Given the description of an element on the screen output the (x, y) to click on. 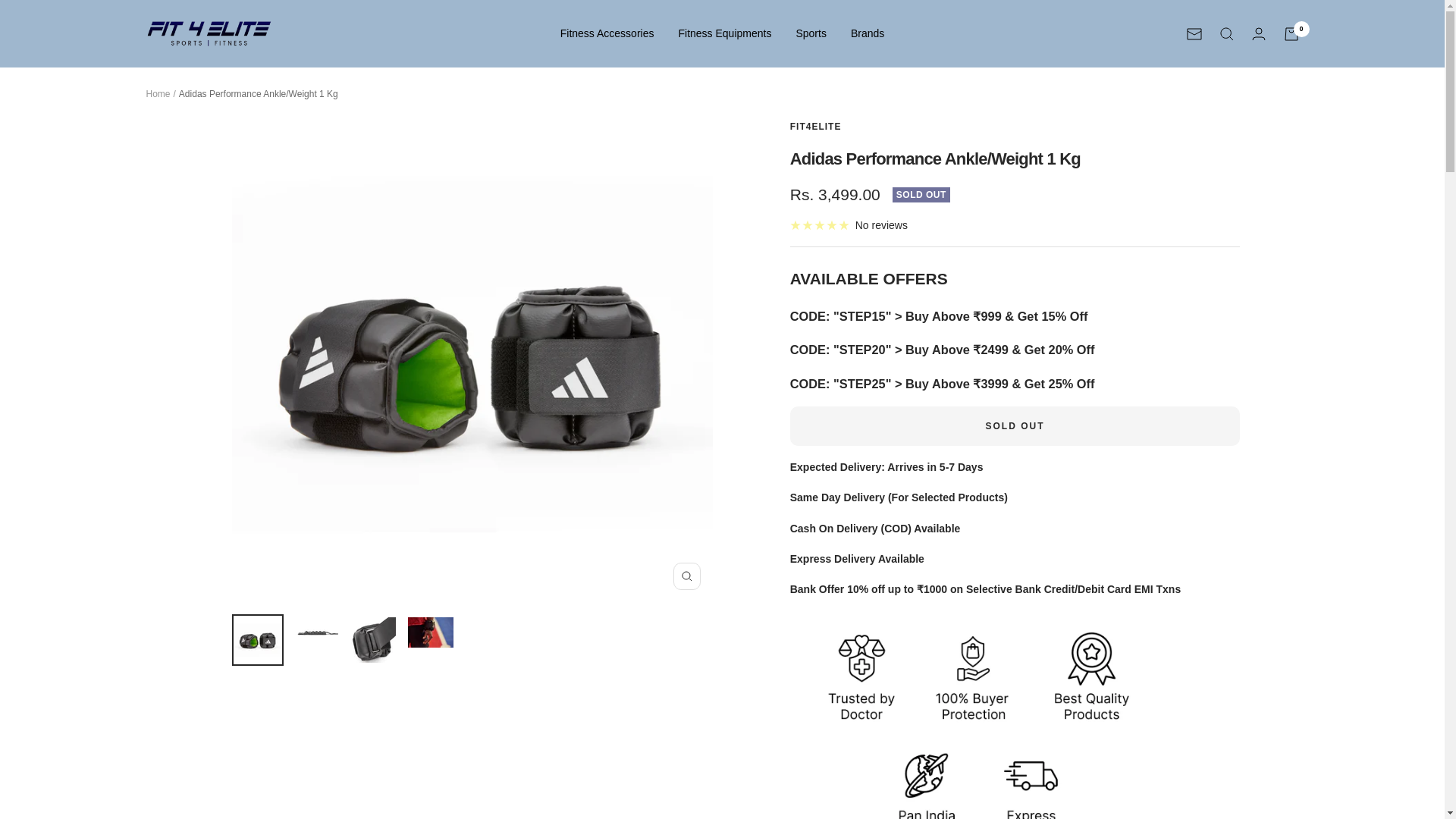
SOLD OUT (1015, 425)
0 (1290, 33)
Fit4Elite (207, 33)
Zoom (686, 575)
Fitness Accessories (606, 33)
FIT4ELITE (815, 126)
Fitness Equipments (724, 33)
Newsletter (1193, 33)
Sports (809, 33)
Home (157, 93)
Brands (866, 33)
No reviews (848, 225)
